Given the description of an element on the screen output the (x, y) to click on. 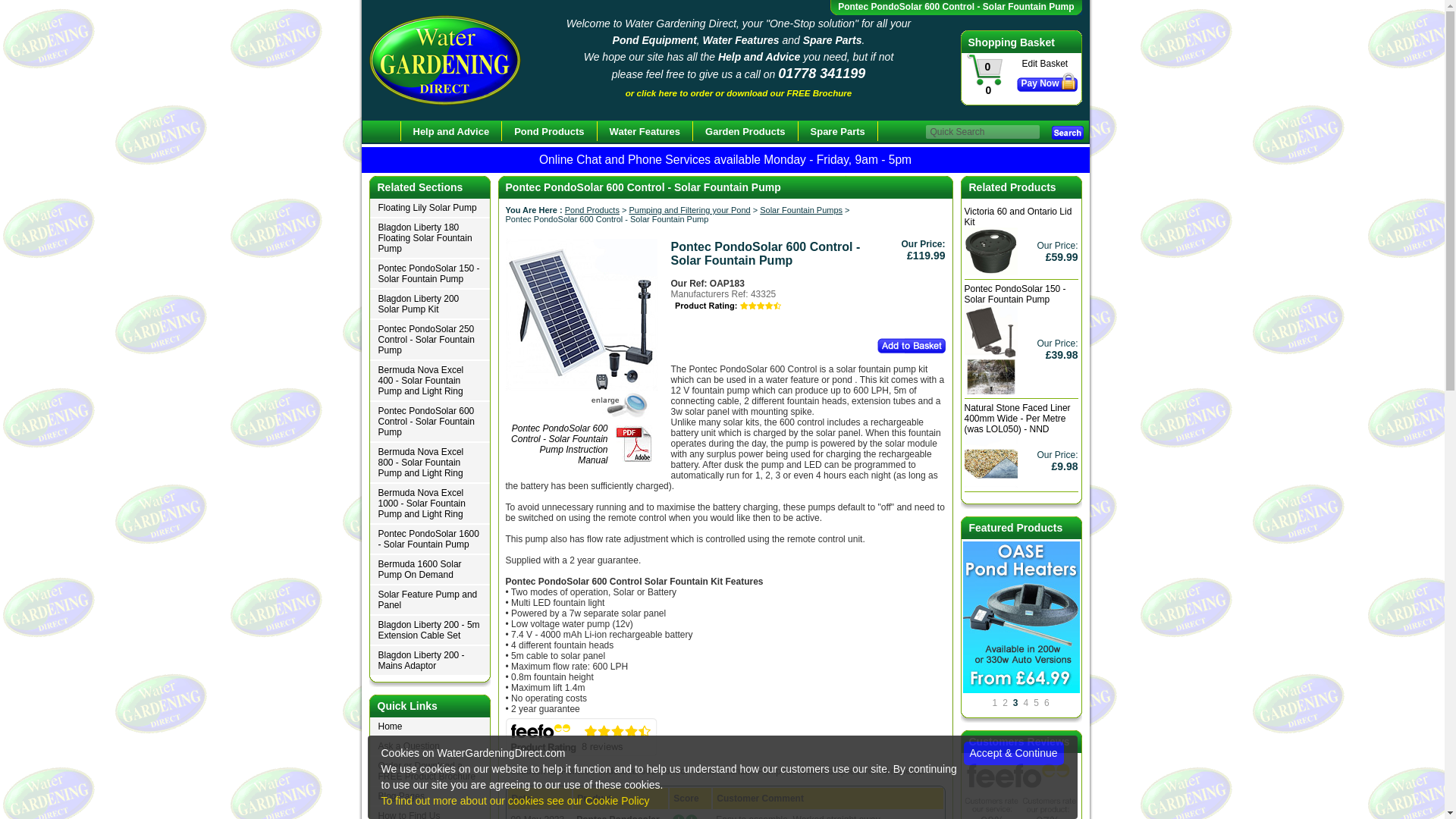
Blagdon Liberty 180 Floating Solar Fountain Pump (429, 238)
Internal link:  View your Basket (1043, 63)
or click here to order or download our FREE Brochure (738, 92)
Pontec PondoSolar 1600 - Solar Fountain Pump (429, 539)
How to Find Us (429, 812)
Floating Lily Solar Pump (429, 208)
Ask a Question (429, 746)
Solar Fountain Pumps (801, 209)
Blog Pages (429, 796)
Quick Search (981, 131)
Pontec PondoSolar 250 Control - Solar Fountain Pump (429, 340)
Victoria 60 and Ontario Lid Kit (990, 251)
Bermuda 1600 Solar Pump On Demand (429, 570)
Pontec PondoSolar 600 Control - Solar Fountain Pump (429, 422)
See what our customers say about this product (580, 737)
